Given the description of an element on the screen output the (x, y) to click on. 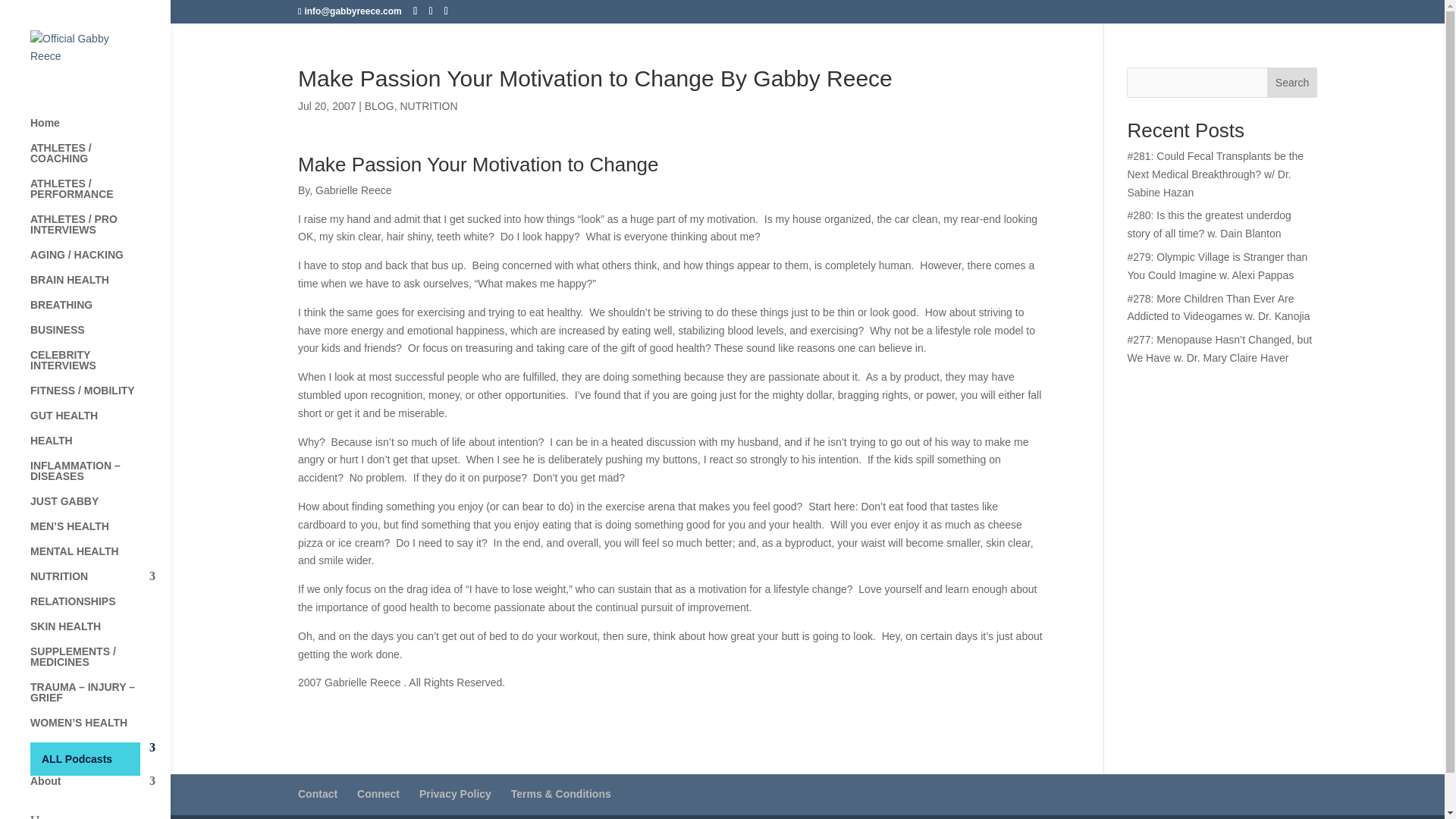
Home (100, 129)
JUST GABBY (100, 508)
MENTAL HEALTH (100, 558)
HEALTH (100, 447)
CELEBRITY INTERVIEWS (100, 366)
BRAIN HEALTH (100, 286)
About (100, 787)
NUTRITION (100, 583)
BREATHING (100, 311)
GUT HEALTH (100, 422)
